Given the description of an element on the screen output the (x, y) to click on. 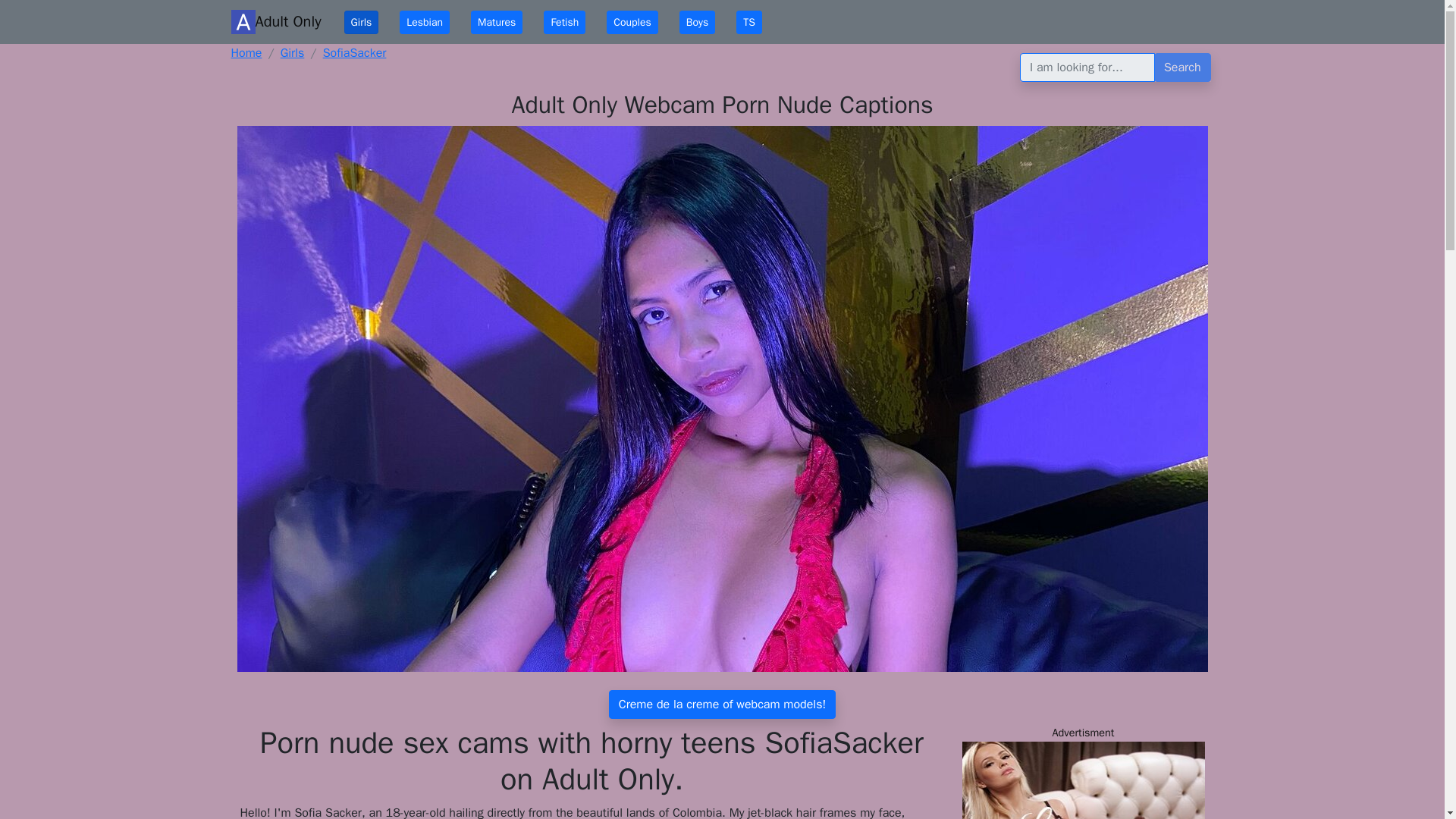
Creme de la creme of webcam models! (721, 704)
TS (748, 22)
Couples (632, 22)
Boys (696, 22)
TS (748, 22)
Adult Only (246, 52)
SofiaSacker (355, 52)
Couples (632, 22)
Girls (292, 52)
Search (1182, 67)
